Given the description of an element on the screen output the (x, y) to click on. 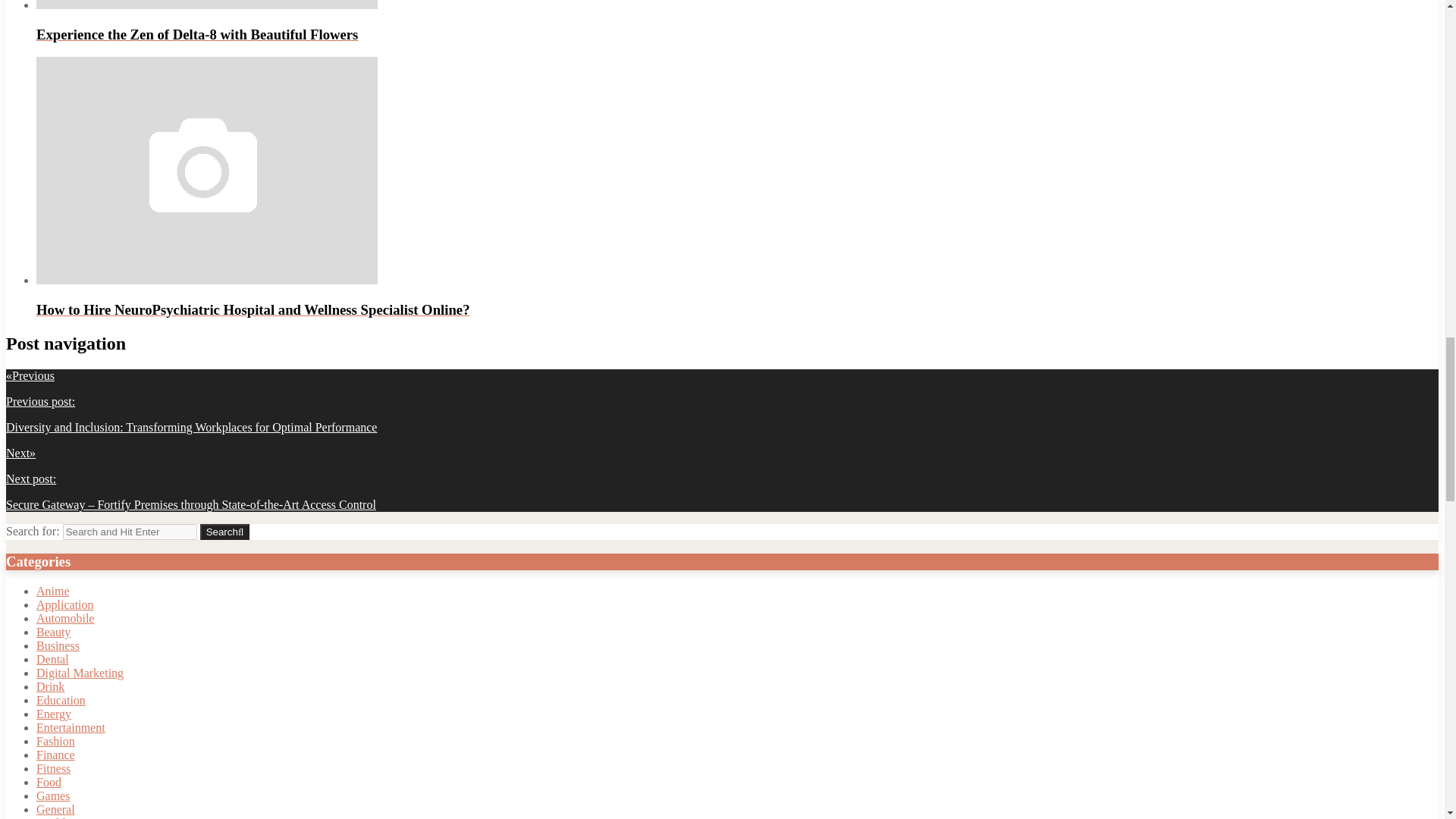
Fitness (52, 768)
Energy (53, 713)
General (55, 809)
Fashion (55, 740)
Education (60, 699)
Application (65, 604)
Search (225, 531)
Automobile (65, 617)
Business (58, 645)
Games (52, 795)
Anime (52, 590)
Dental (52, 658)
Beauty (52, 631)
Entertainment (70, 727)
Finance (55, 754)
